Given the description of an element on the screen output the (x, y) to click on. 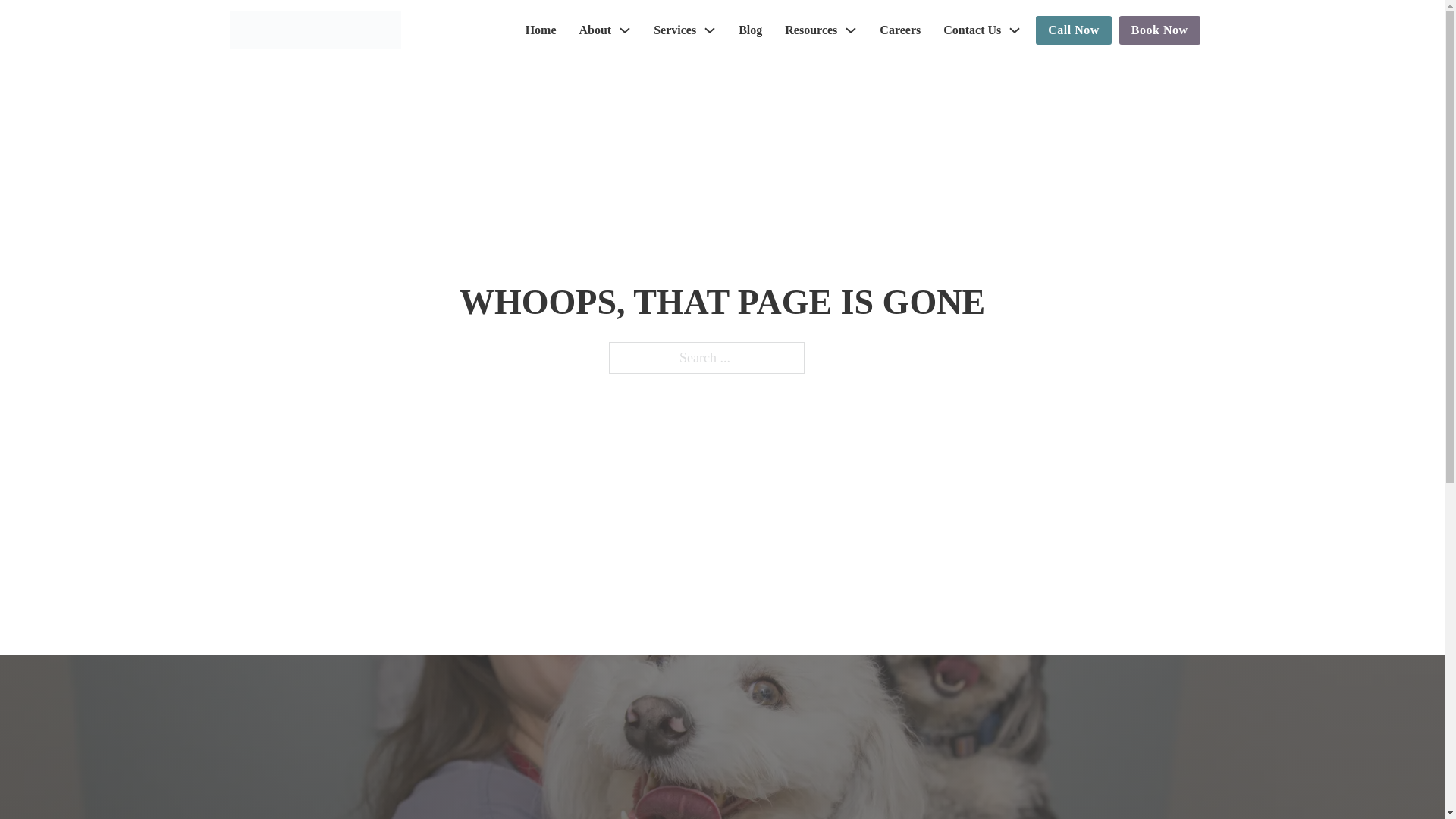
Contact Us (972, 30)
Services (674, 30)
Careers (899, 30)
About (595, 30)
Resources (810, 30)
Blog (749, 30)
Home (540, 30)
